Given the description of an element on the screen output the (x, y) to click on. 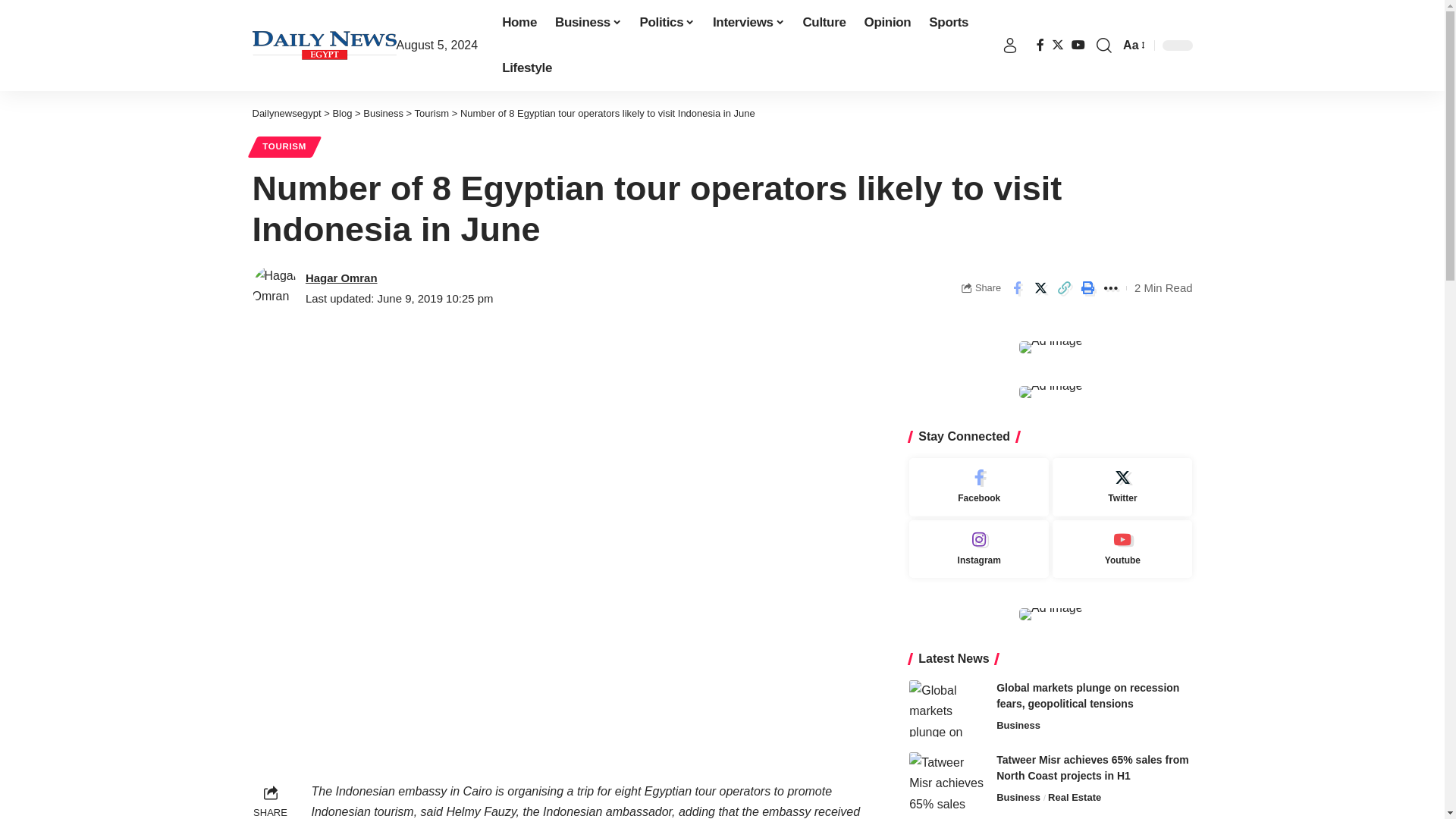
Opinion (888, 22)
Business (588, 22)
Home (519, 22)
Interviews (748, 22)
Culture (823, 22)
Dailynewsegypt (323, 45)
Politics (666, 22)
